Given the description of an element on the screen output the (x, y) to click on. 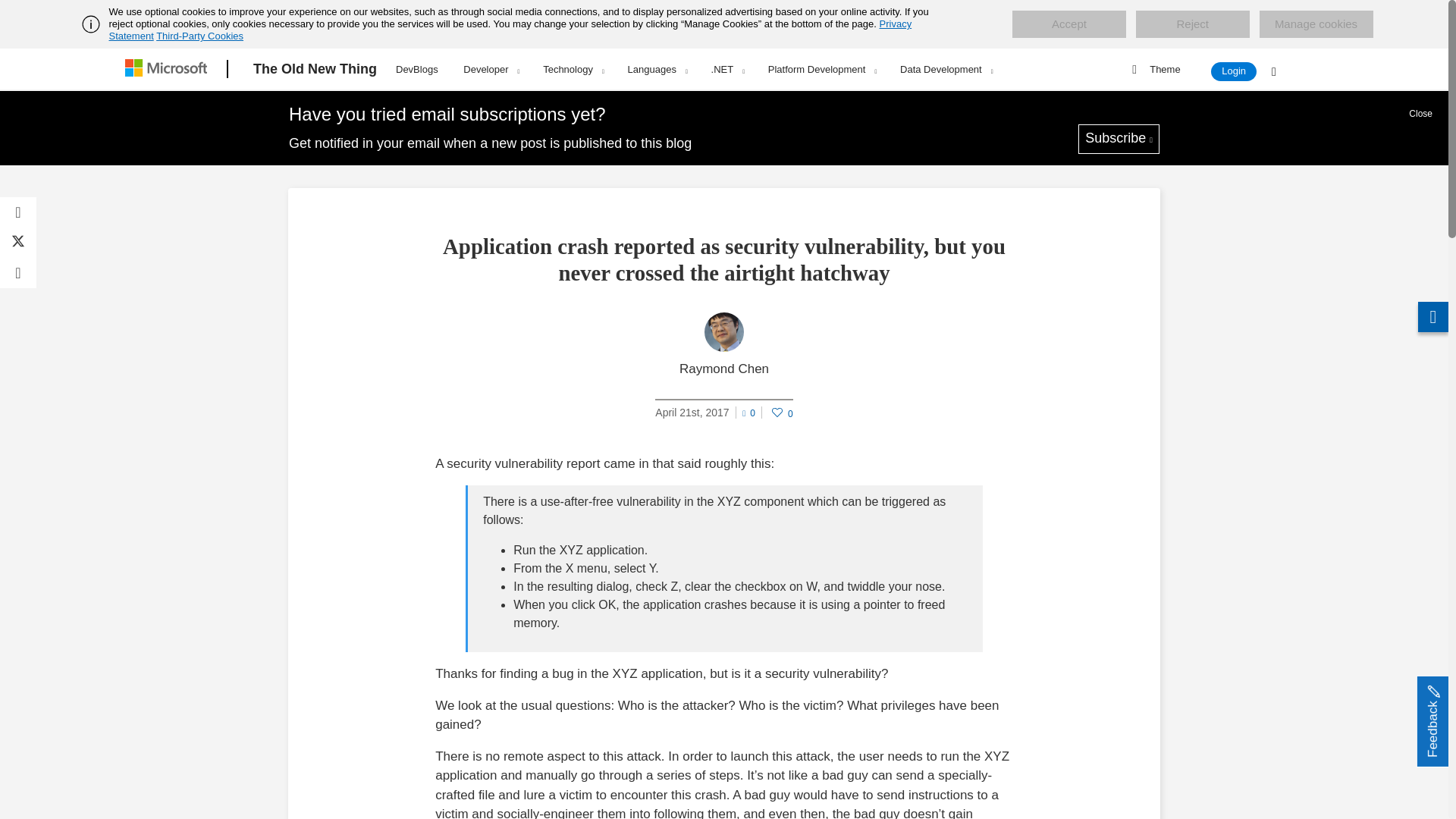
Third-Party Cookies (199, 35)
Privacy Statement (510, 29)
Reject (1192, 23)
Share on Facebook (18, 212)
Technology (572, 69)
DevBlogs (416, 67)
Manage cookies (1316, 23)
Developer (490, 69)
Languages (657, 69)
Accept (1068, 23)
Share on Twitter (18, 242)
The Old New Thing (315, 69)
Share on LinkedIn (18, 272)
Jump to comments (748, 411)
